Given the description of an element on the screen output the (x, y) to click on. 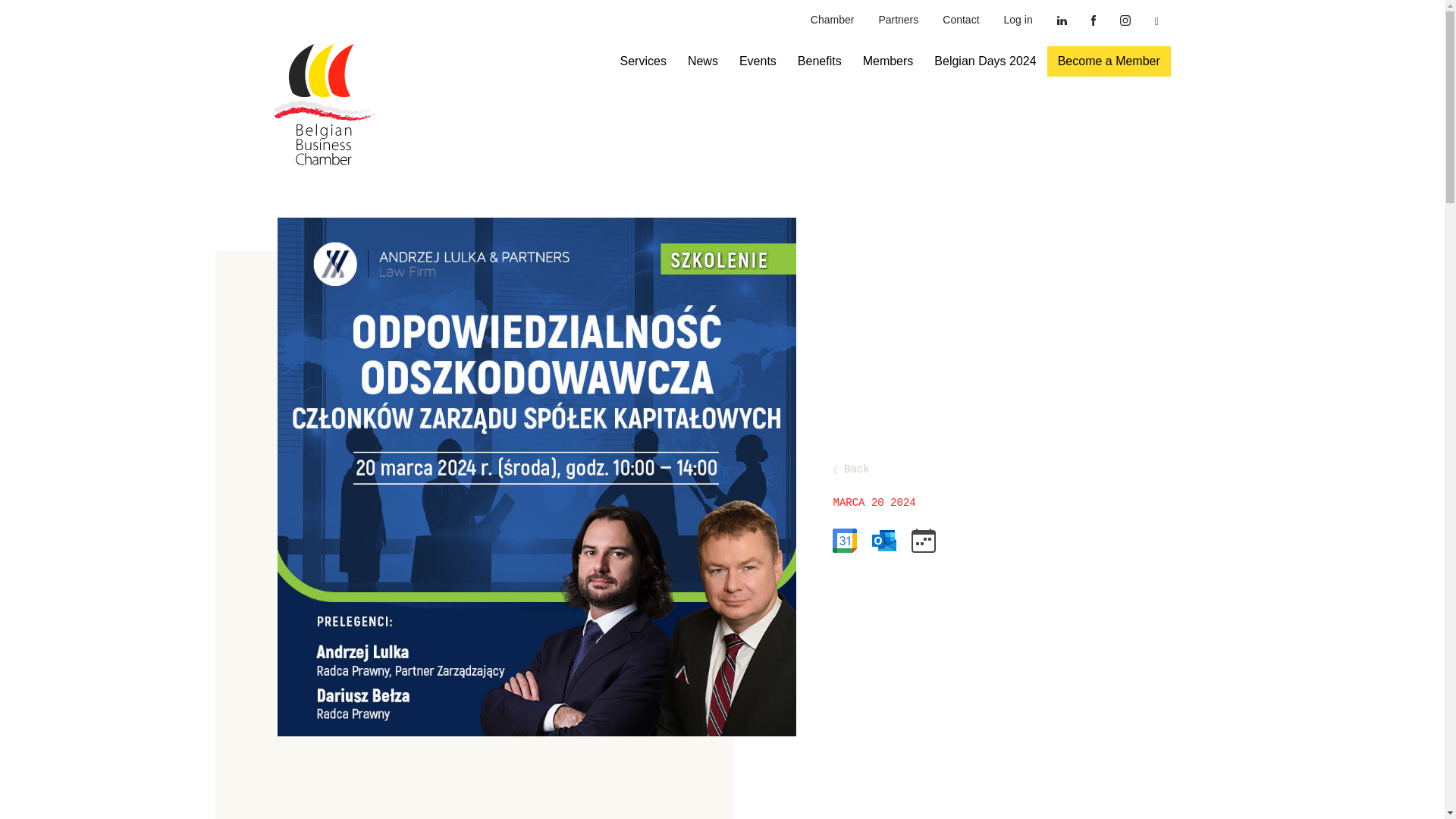
Benefits (819, 60)
Partners (898, 19)
Contact (960, 19)
Members (887, 60)
News (703, 60)
Events (758, 60)
Become a Member (1108, 60)
Back (850, 469)
Chamber (831, 19)
Log in (1018, 19)
